Given the description of an element on the screen output the (x, y) to click on. 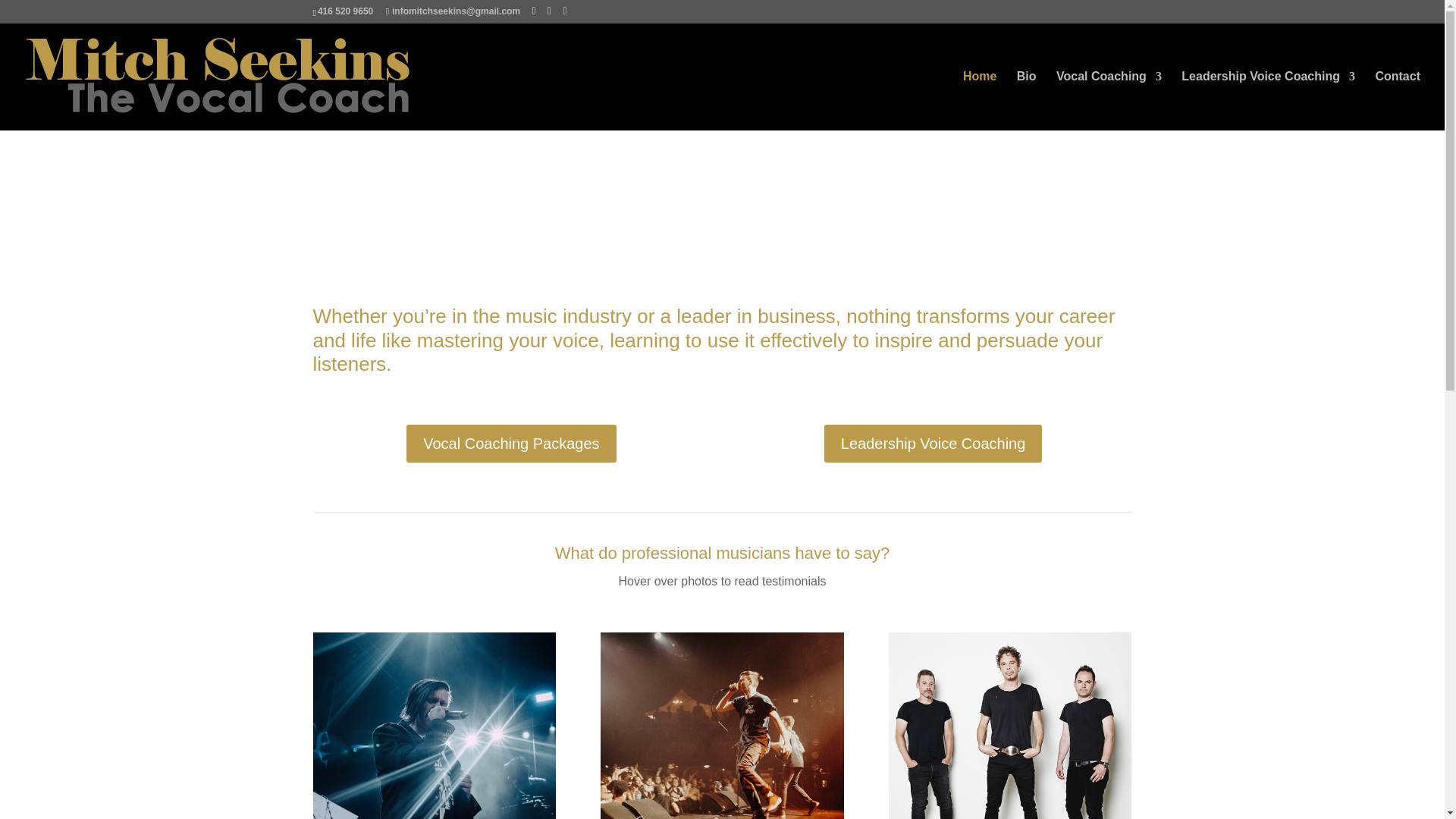
Leadership Voice Coaching (933, 443)
Vocal Coaching (1109, 100)
Leadership Voice Coaching (1267, 100)
Vocal Coaching Packages (510, 443)
